Given the description of an element on the screen output the (x, y) to click on. 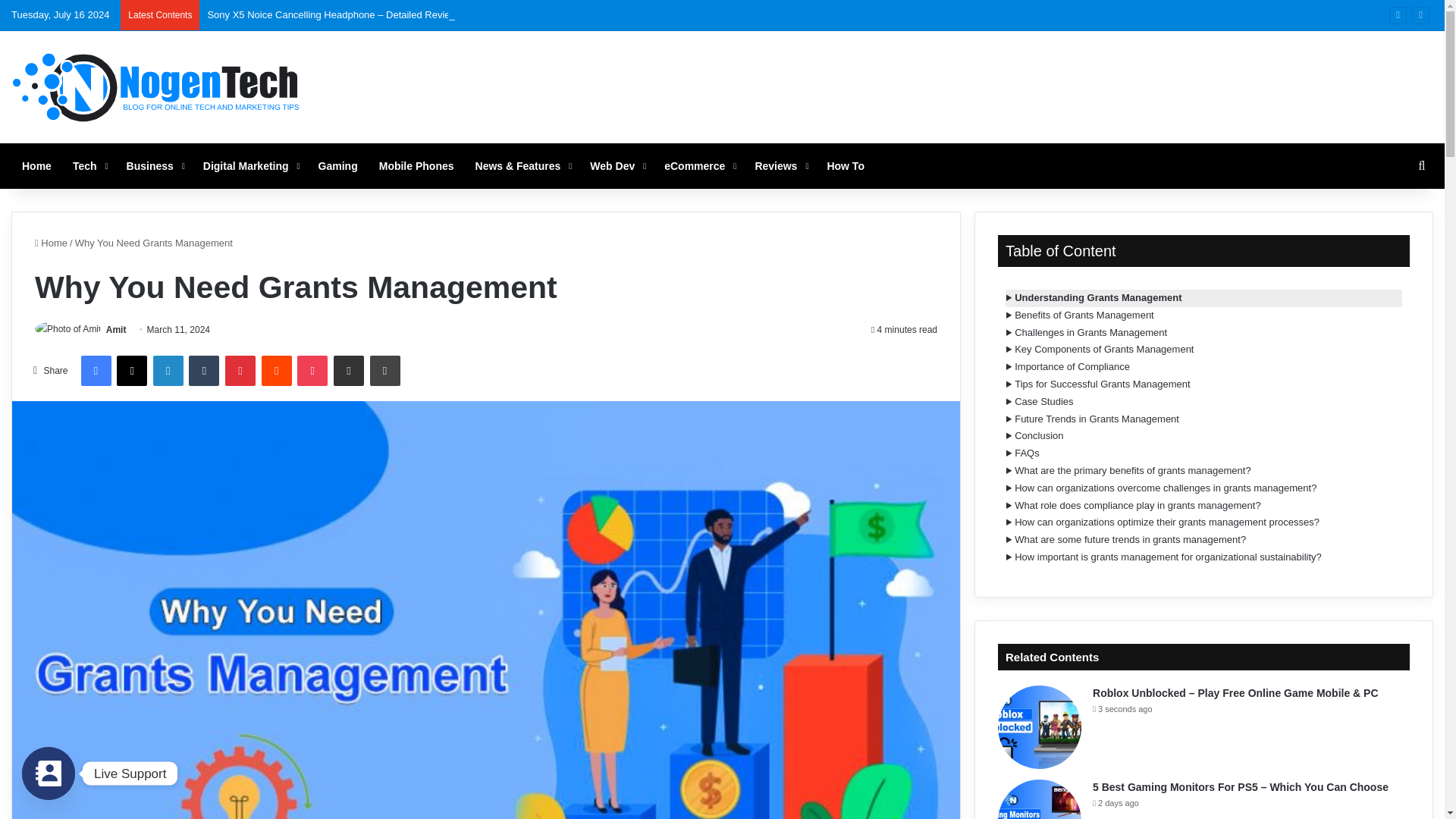
Reddit (277, 370)
Tech (89, 166)
Business (154, 166)
Facebook (95, 370)
Mobile Phones (416, 166)
Pocket (312, 370)
Gaming (337, 166)
Digital Marketing (249, 166)
Share via Email (348, 370)
Pinterest (240, 370)
NogenTech.org (156, 86)
Amit (116, 329)
Tumblr (204, 370)
Home (36, 166)
X (131, 370)
